Given the description of an element on the screen output the (x, y) to click on. 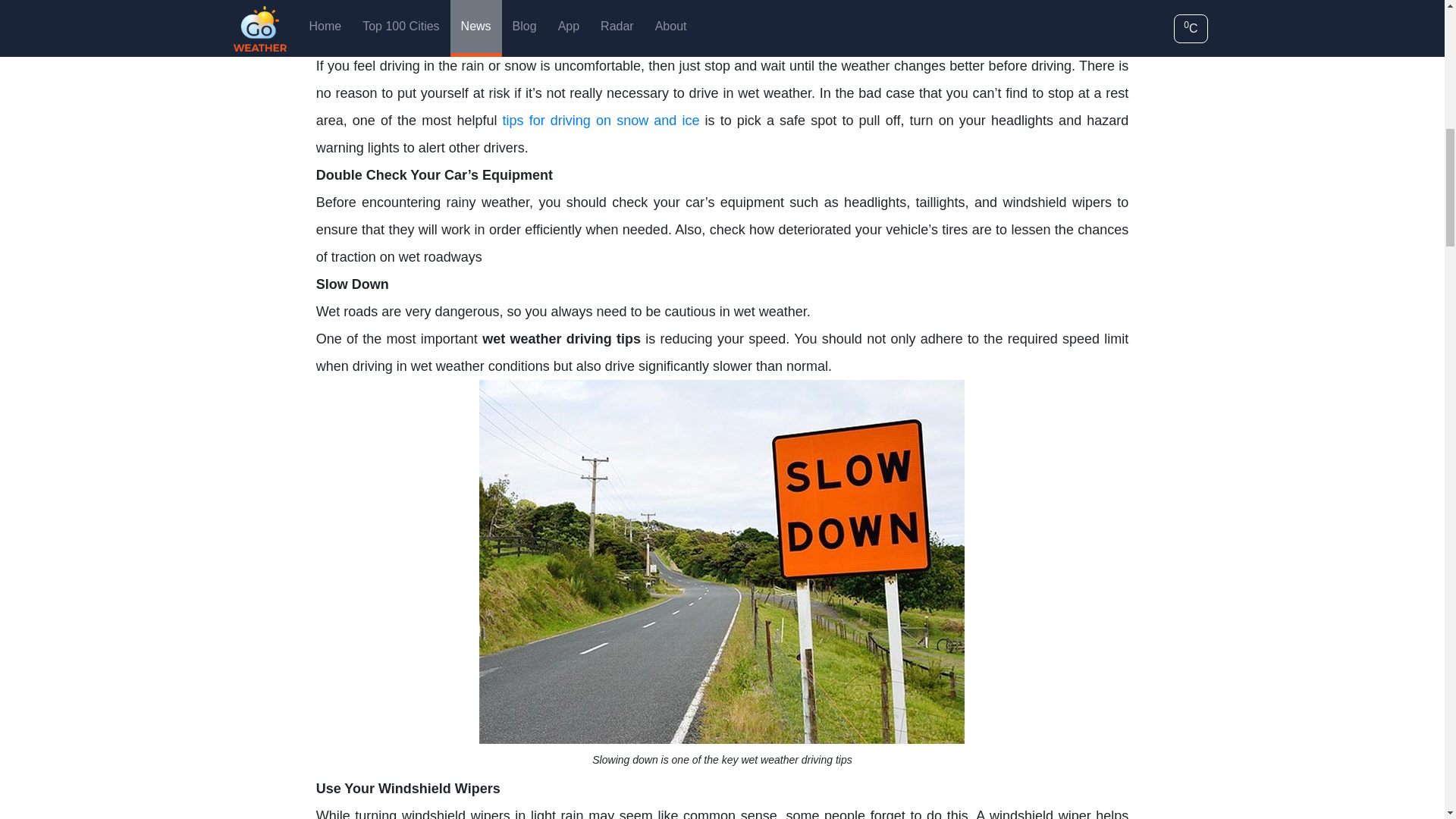
tips for driving on snow and ice (601, 120)
